Given the description of an element on the screen output the (x, y) to click on. 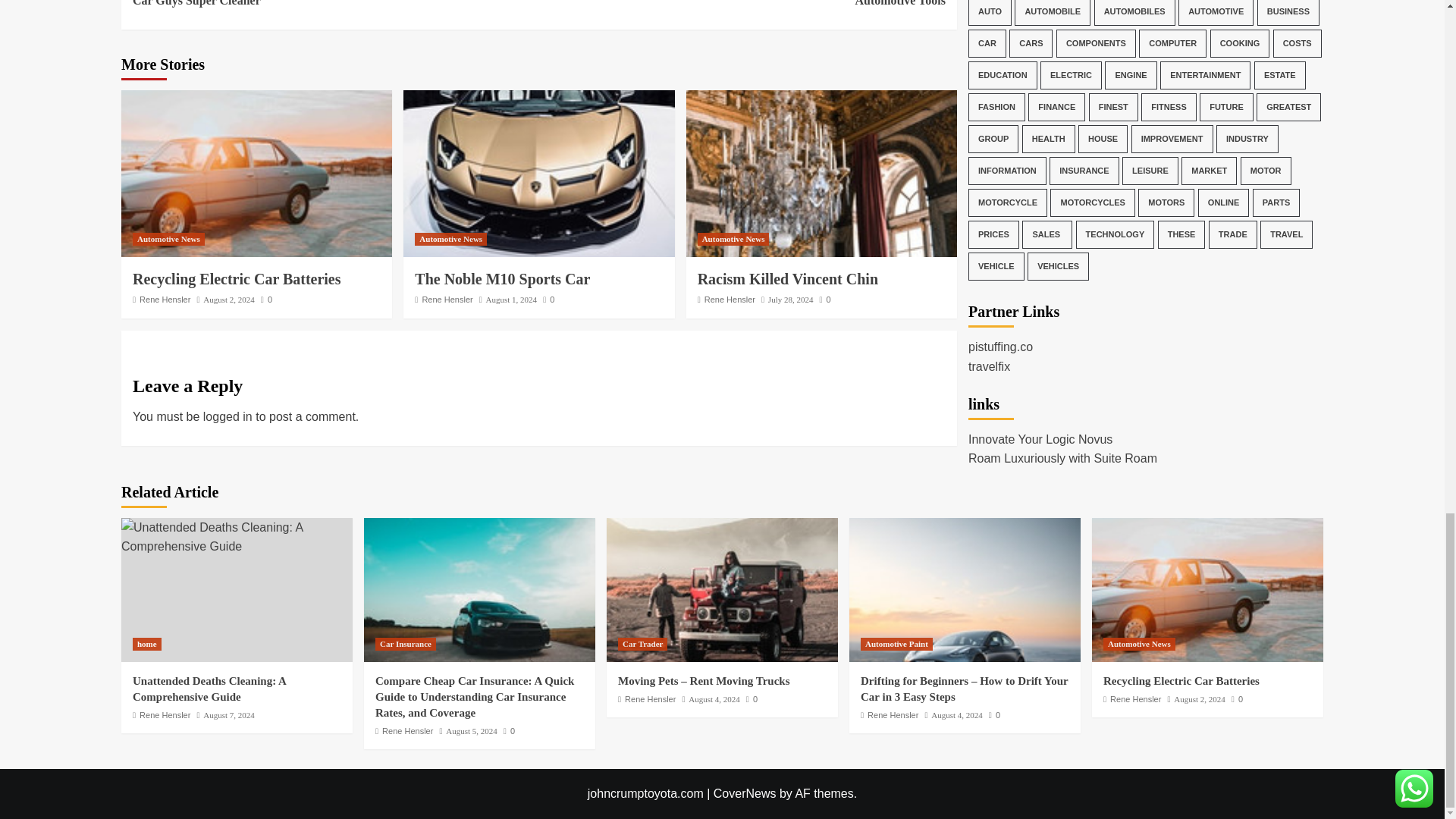
August 2, 2024 (228, 298)
Unattended Deaths Cleaning: A Comprehensive Guide (236, 536)
Rene Hensler (164, 298)
The Noble M10 Sports Car (538, 173)
The Noble M10 Sports Car (741, 5)
0 (501, 279)
August 1, 2024 (266, 298)
Recycling Electric Car Batteries (511, 298)
Racism Killed Vincent Chin (255, 173)
